Given the description of an element on the screen output the (x, y) to click on. 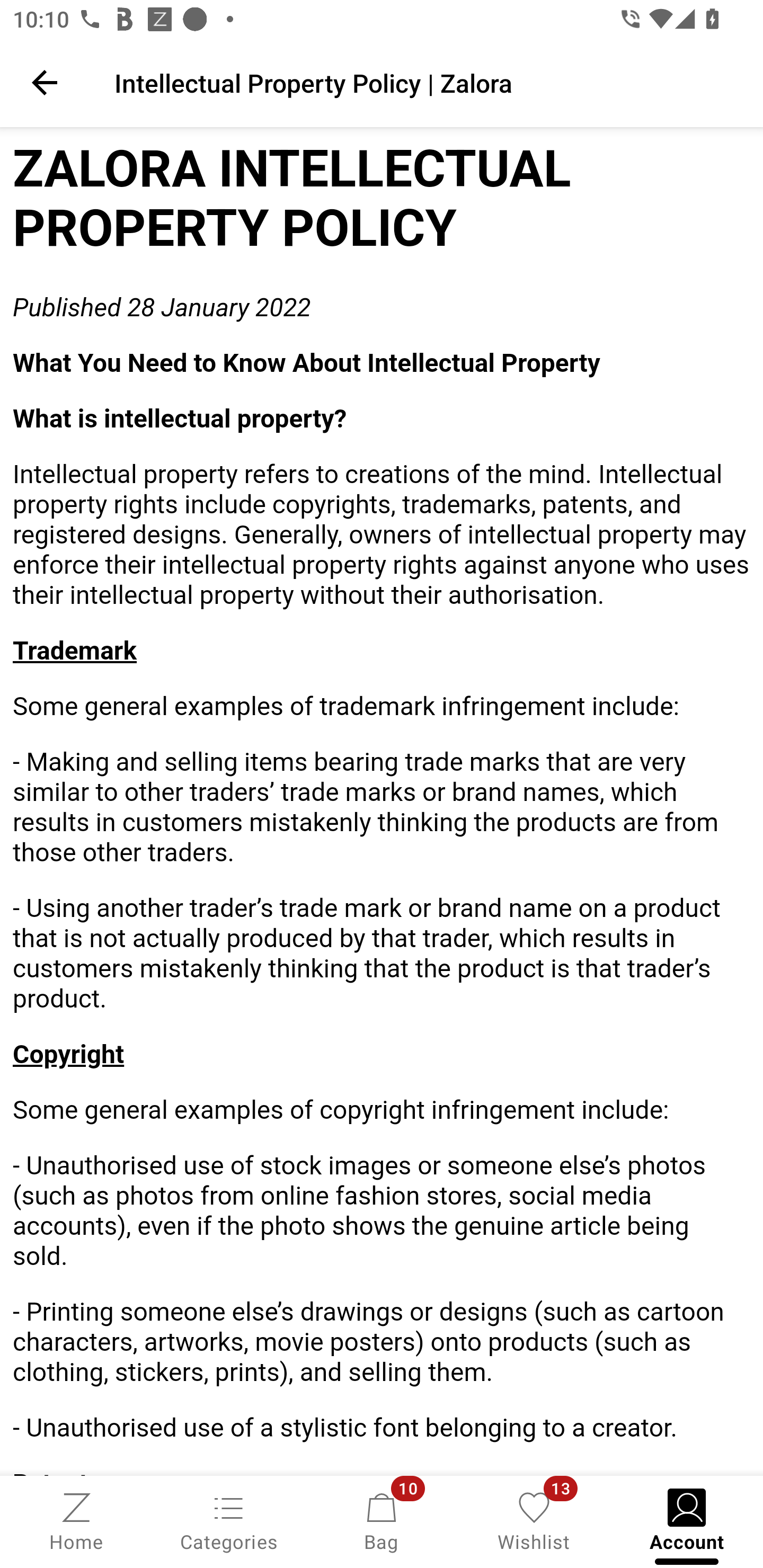
Navigate up (44, 82)
Intellectual Property Policy | Zalora (426, 82)
Home (76, 1519)
Categories (228, 1519)
Bag, 10 new notifications Bag (381, 1519)
Wishlist, 13 new notifications Wishlist (533, 1519)
